Given the description of an element on the screen output the (x, y) to click on. 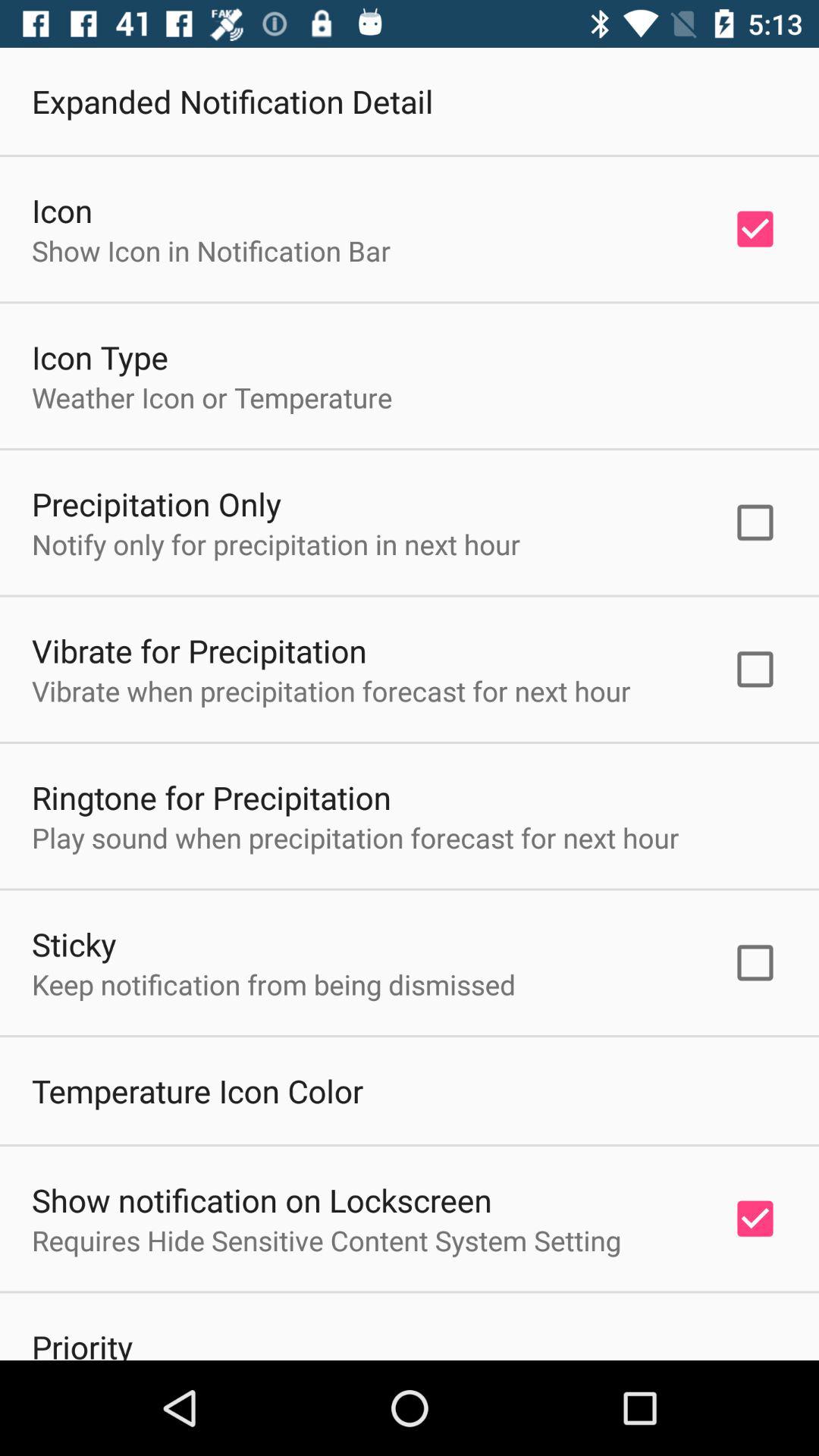
flip until the icon type item (99, 356)
